Given the description of an element on the screen output the (x, y) to click on. 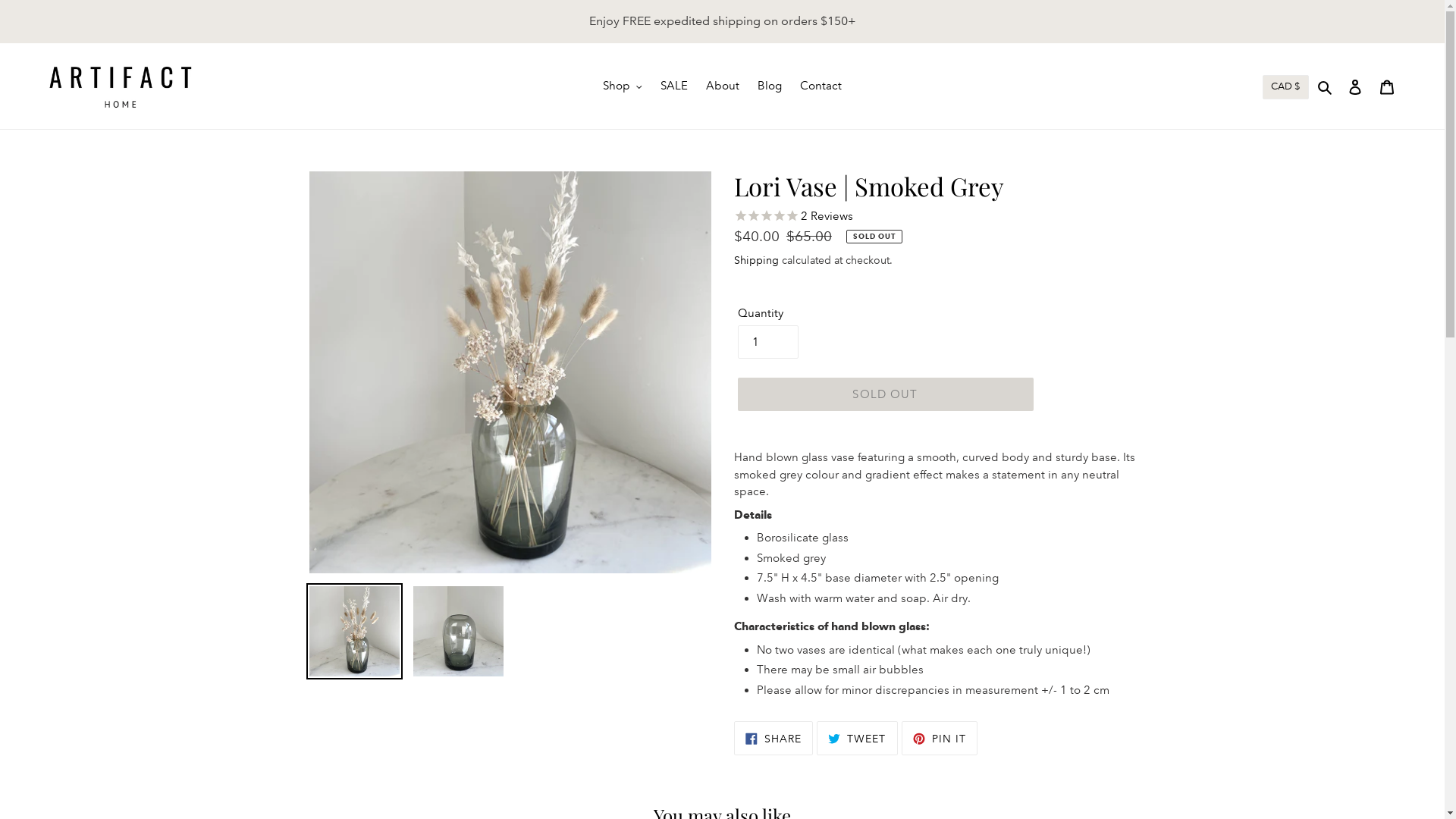
About Element type: text (722, 86)
Cart Element type: text (1386, 85)
SHARE
SHARE ON FACEBOOK Element type: text (773, 737)
Contact Element type: text (820, 86)
Blog Element type: text (769, 86)
PIN IT
PIN ON PINTEREST Element type: text (938, 737)
TWEET
TWEET ON TWITTER Element type: text (856, 737)
Shop Element type: text (622, 86)
Log in Element type: text (1355, 85)
SALE Element type: text (673, 86)
Search Element type: text (1325, 85)
Shipping Element type: text (756, 260)
SOLD OUT Element type: text (884, 394)
